Given the description of an element on the screen output the (x, y) to click on. 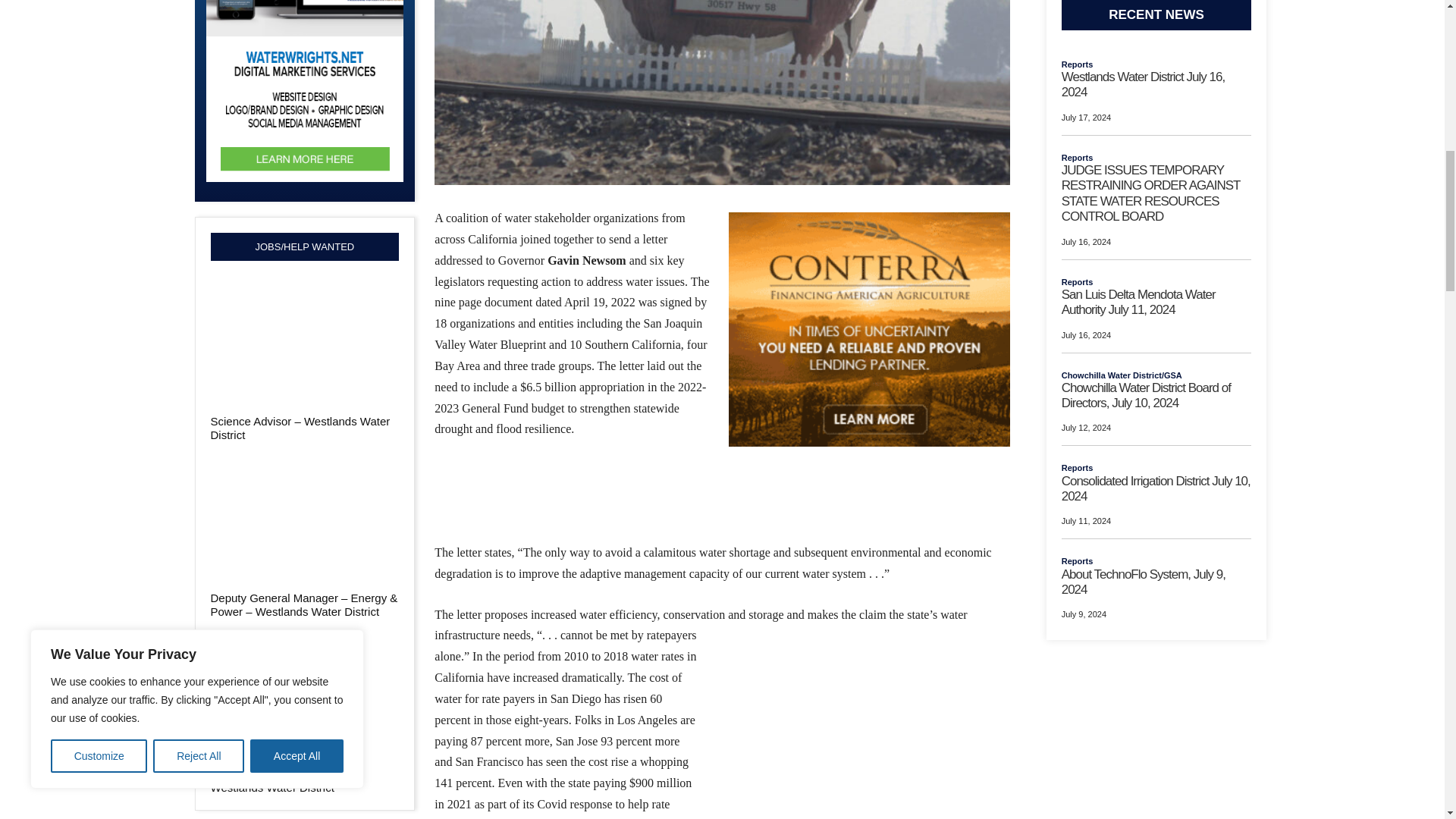
Only cow left (721, 92)
